Given the description of an element on the screen output the (x, y) to click on. 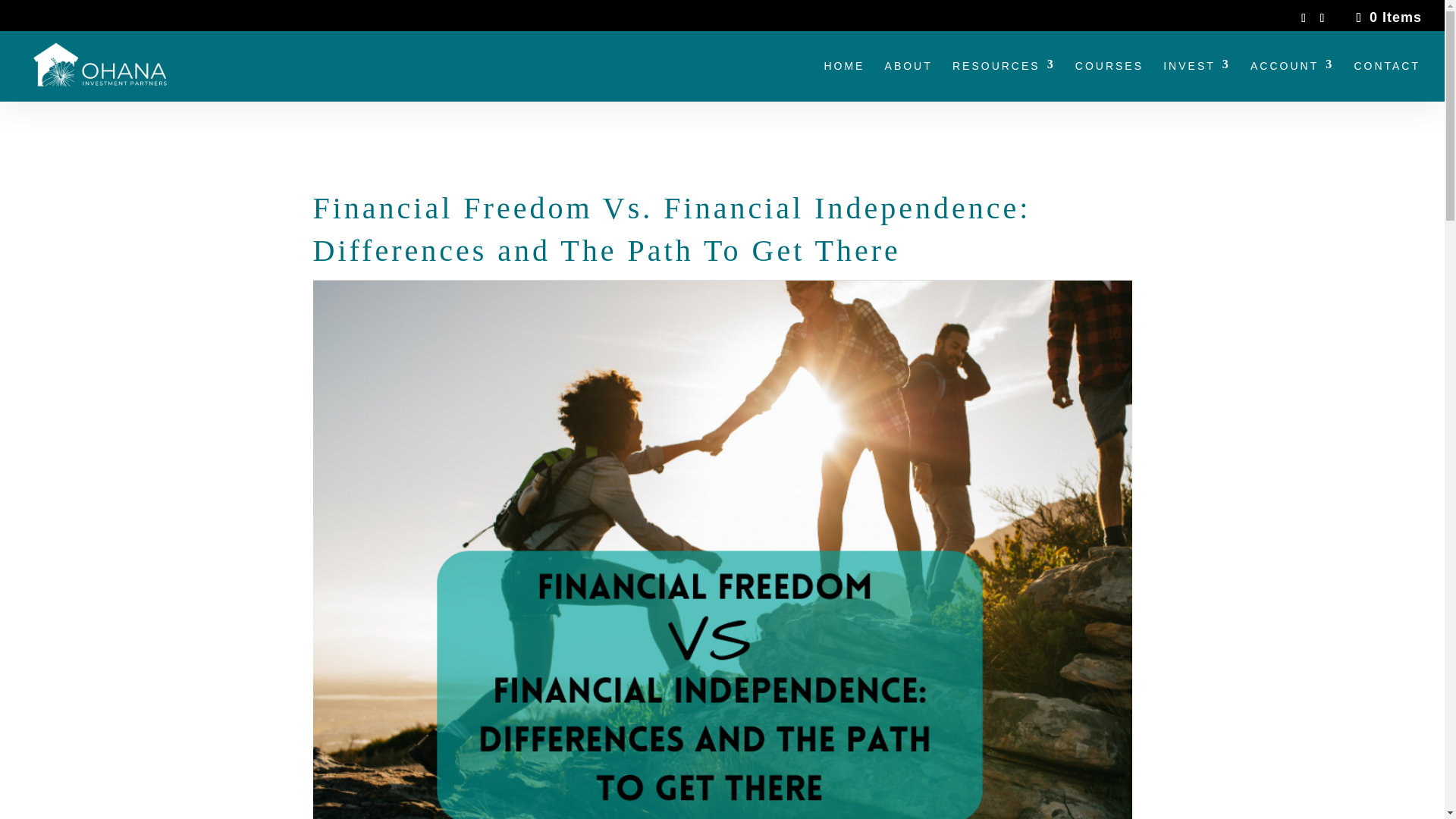
0 Items (1386, 17)
RESOURCES (1003, 80)
ABOUT (909, 80)
INVEST (1196, 80)
CONTACT (1387, 80)
COURSES (1108, 80)
ACCOUNT (1291, 80)
HOME (844, 80)
